Given the description of an element on the screen output the (x, y) to click on. 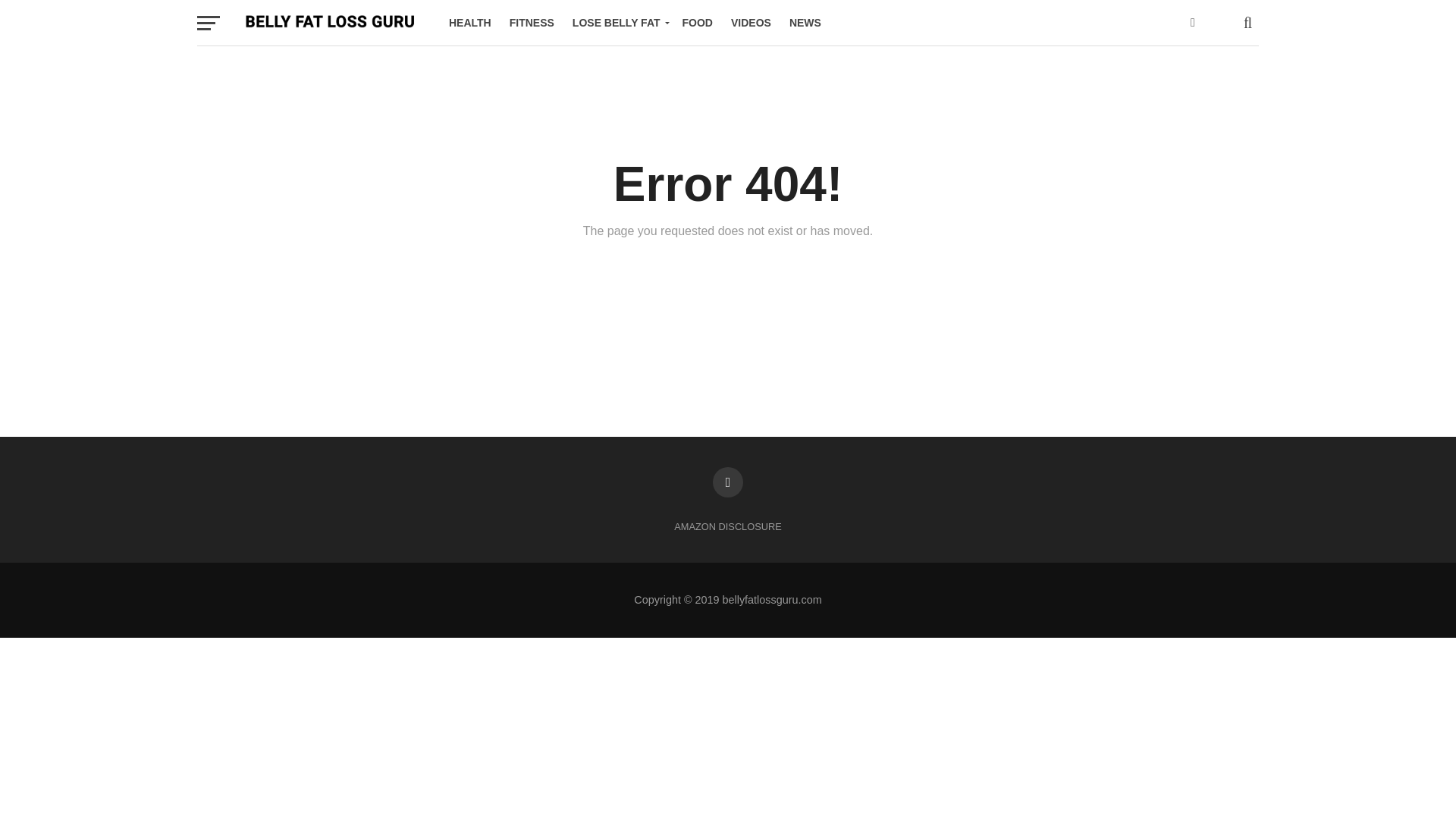
FITNESS (531, 22)
HEALTH (469, 22)
VIDEOS (751, 22)
FOOD (697, 22)
LOSE BELLY FAT (617, 22)
AMAZON DISCLOSURE (727, 526)
NEWS (804, 22)
